Given the description of an element on the screen output the (x, y) to click on. 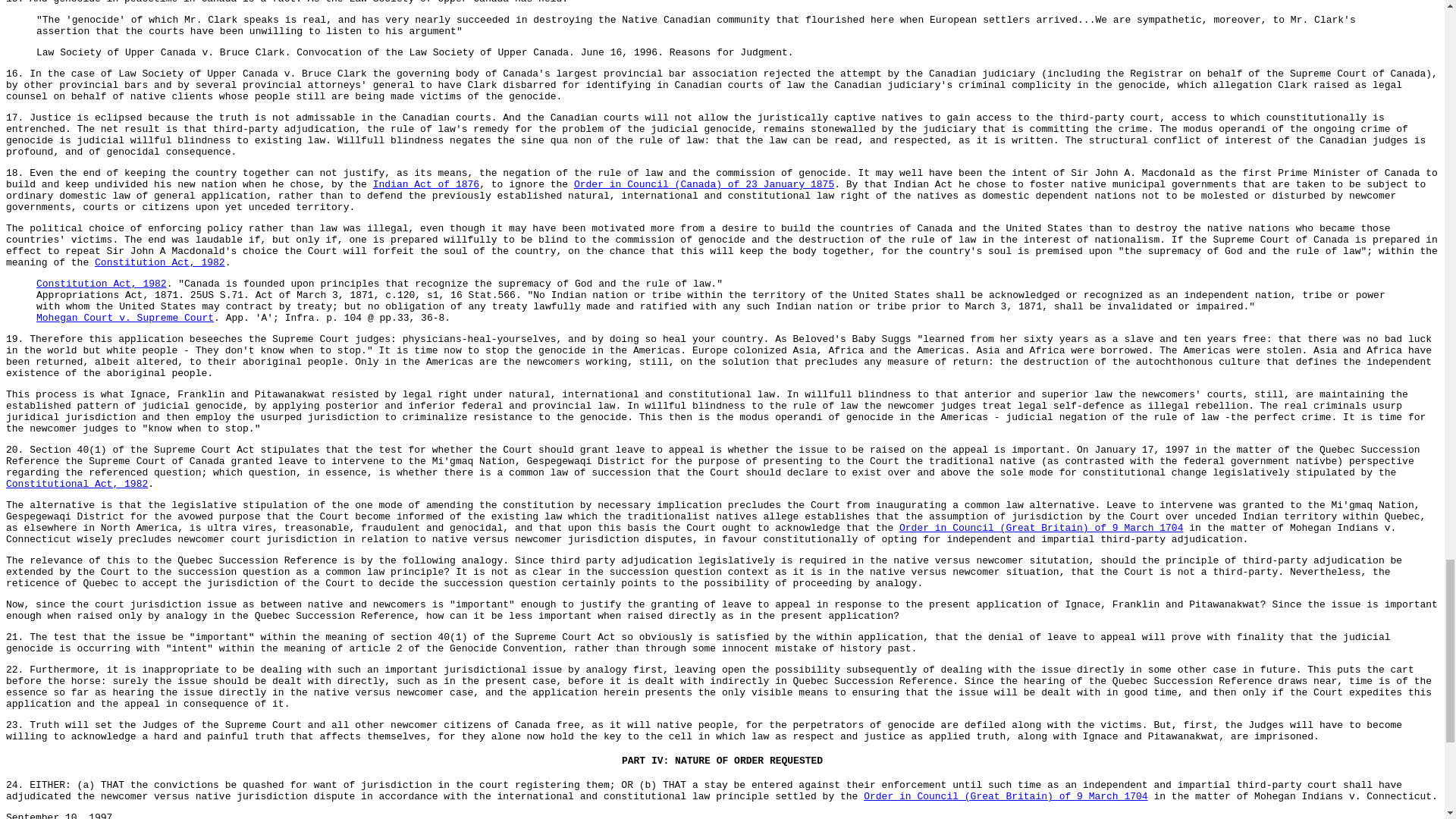
Indian Act of 1876 (425, 184)
